Given the description of an element on the screen output the (x, y) to click on. 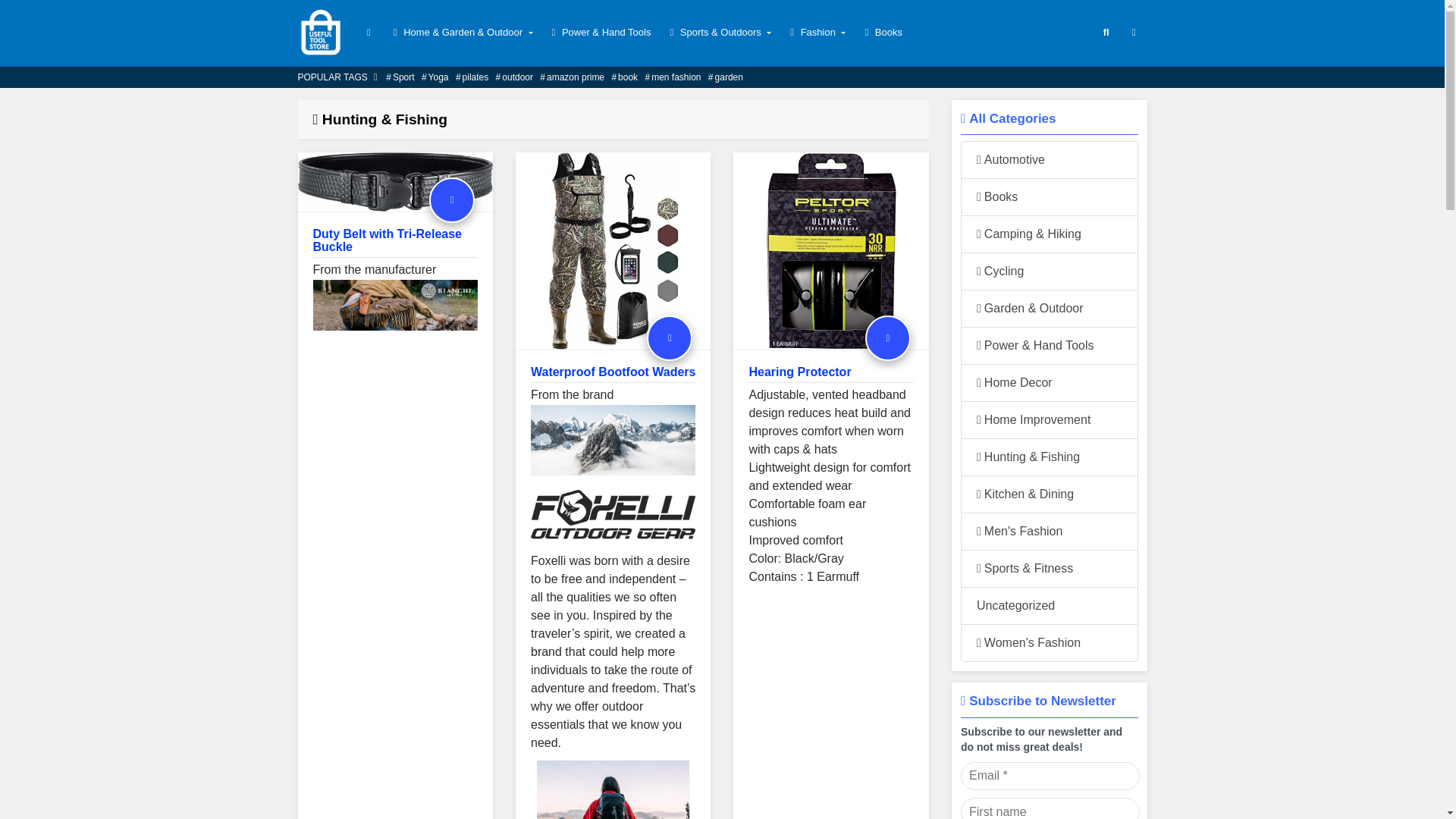
 Fashion (815, 31)
garden (725, 77)
Books (881, 31)
book (624, 77)
Fashion (815, 31)
 Books (881, 31)
men fashion (672, 77)
Sport (400, 77)
outdoor (514, 77)
Buy Now (451, 199)
